Given the description of an element on the screen output the (x, y) to click on. 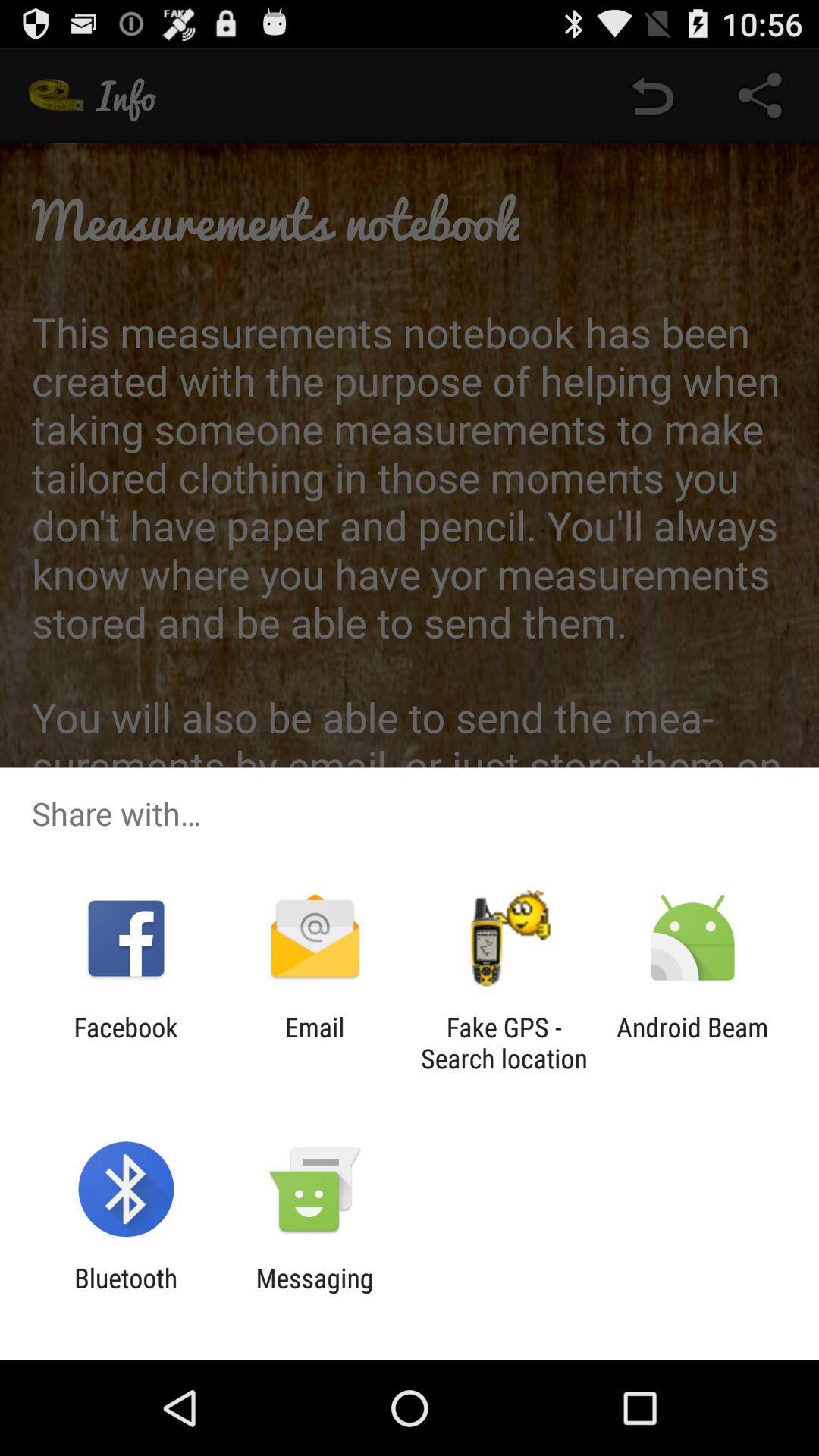
flip until messaging item (314, 1293)
